Given the description of an element on the screen output the (x, y) to click on. 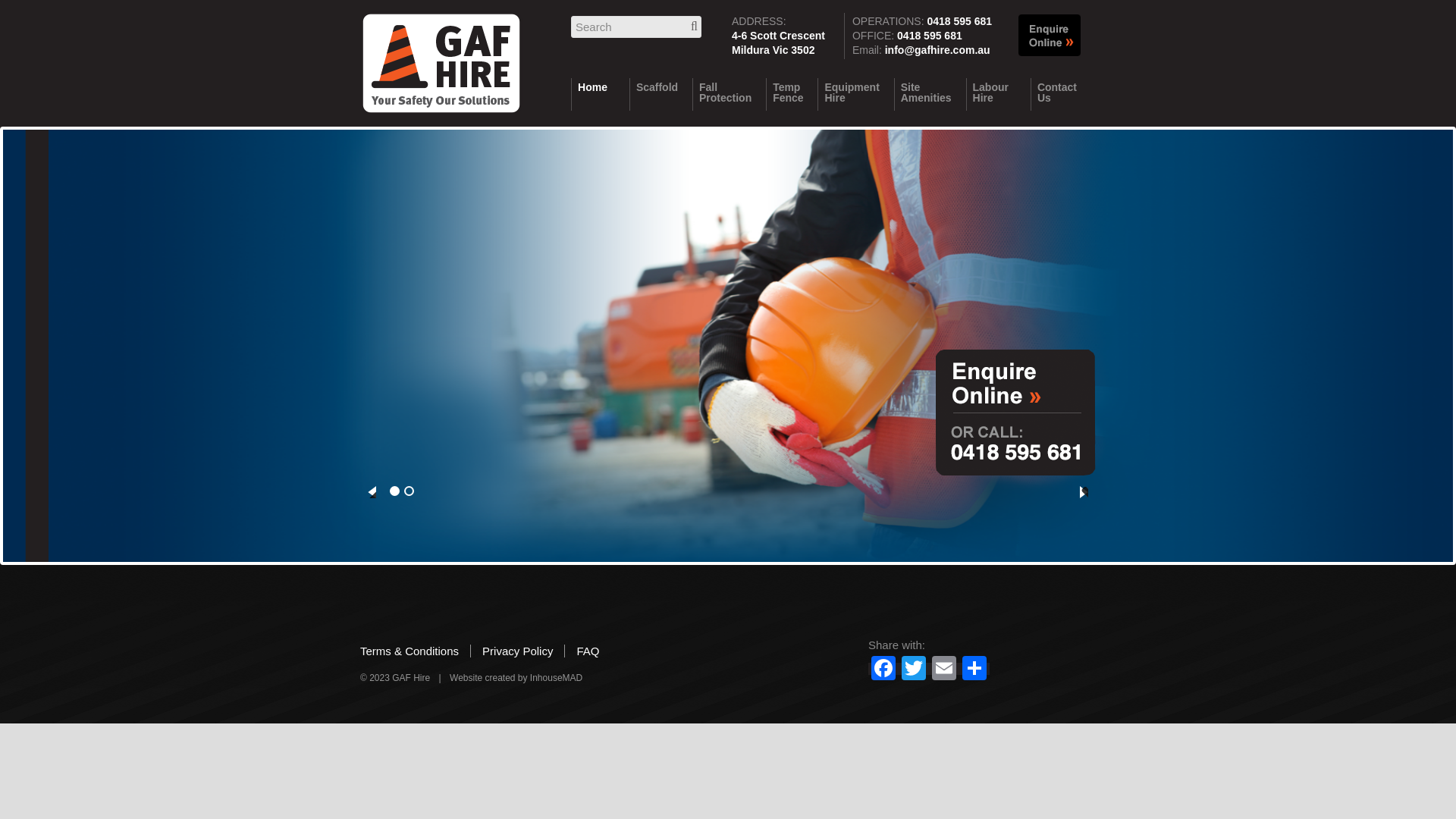
Site
Amenities Element type: text (928, 94)
Scaffold
  Element type: text (659, 94)
info@gafhire.com.au Element type: text (937, 49)
Terms & Conditions Element type: text (415, 650)
Fall
Protection Element type: text (727, 94)
Next Element type: text (1083, 492)
Facebook Element type: text (883, 669)
Equipment
Hire Element type: text (853, 94)
Privacy Policy Element type: text (517, 650)
2 Element type: text (409, 490)
Website created by InhouseMAD Element type: text (515, 677)
Email Element type: text (943, 669)
Labour
Hire Element type: text (996, 94)
Home
   Element type: text (598, 94)
Temp
Fence Element type: text (789, 94)
Previous Element type: text (371, 492)
Share Element type: text (974, 669)
1 Element type: text (394, 490)
Contact
Us Element type: text (1062, 94)
GAF Hire Element type: text (441, 68)
FAQ Element type: text (581, 650)
Twitter Element type: text (913, 669)
